Given the description of an element on the screen output the (x, y) to click on. 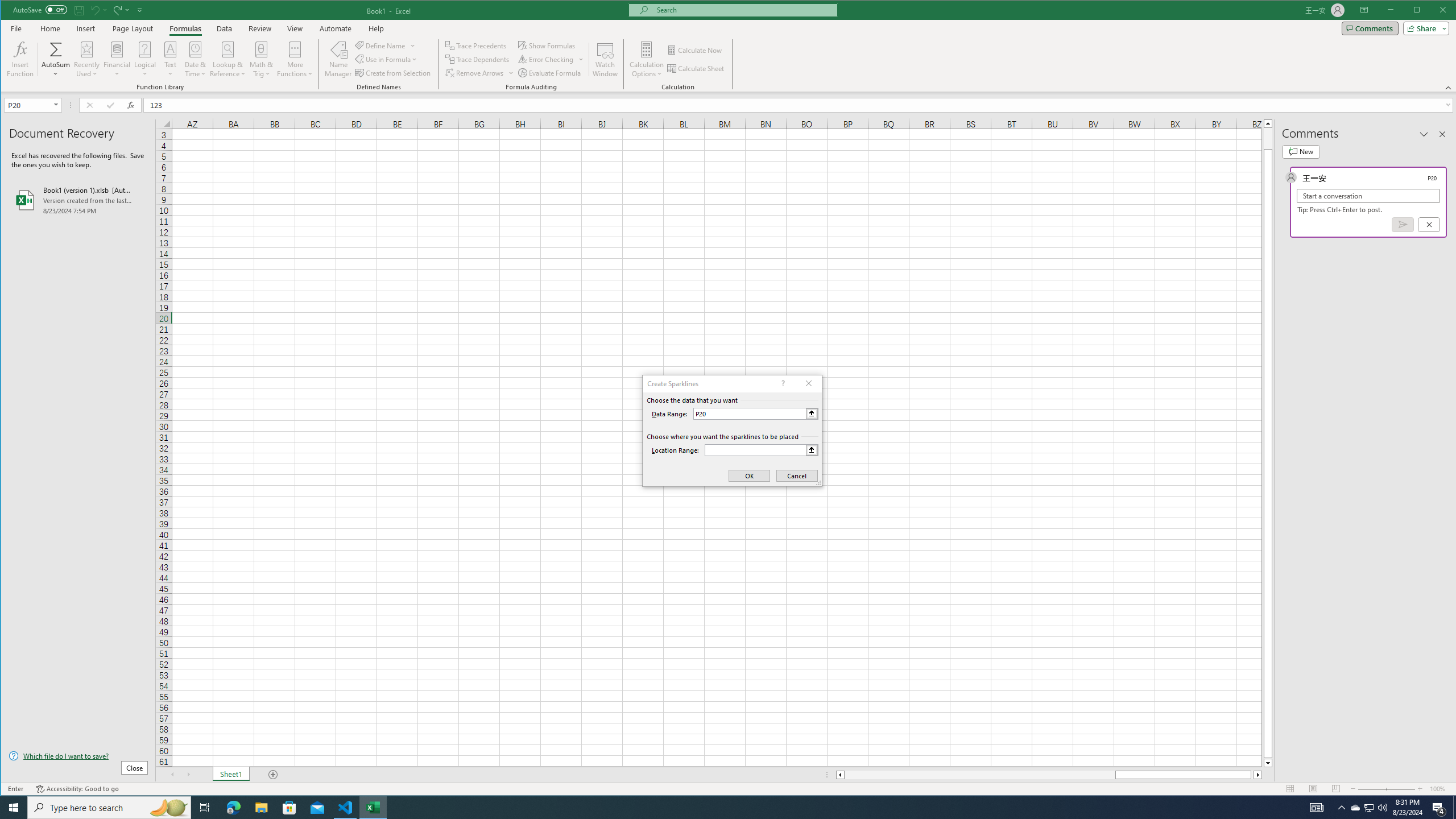
Trace Precedents (476, 45)
Open (56, 105)
Accessibility Checker Accessibility: Good to go (77, 788)
Insert Function... (19, 59)
AutoSum (55, 59)
Remove Arrows (480, 72)
Automate (336, 28)
View (294, 28)
Define Name... (381, 45)
Column left (839, 774)
New comment (1300, 151)
Help (376, 28)
